Given the description of an element on the screen output the (x, y) to click on. 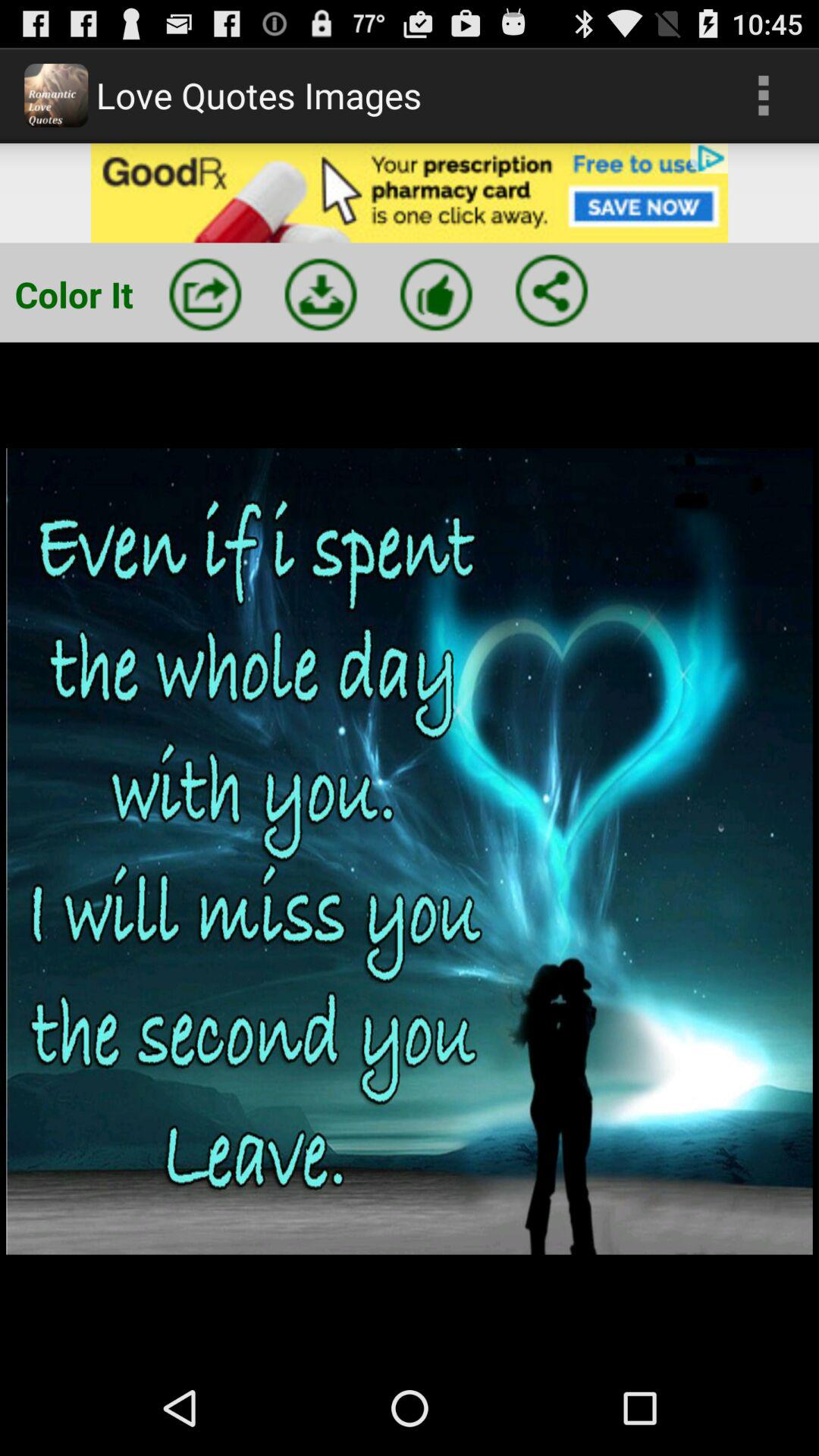
download item (320, 294)
